Given the description of an element on the screen output the (x, y) to click on. 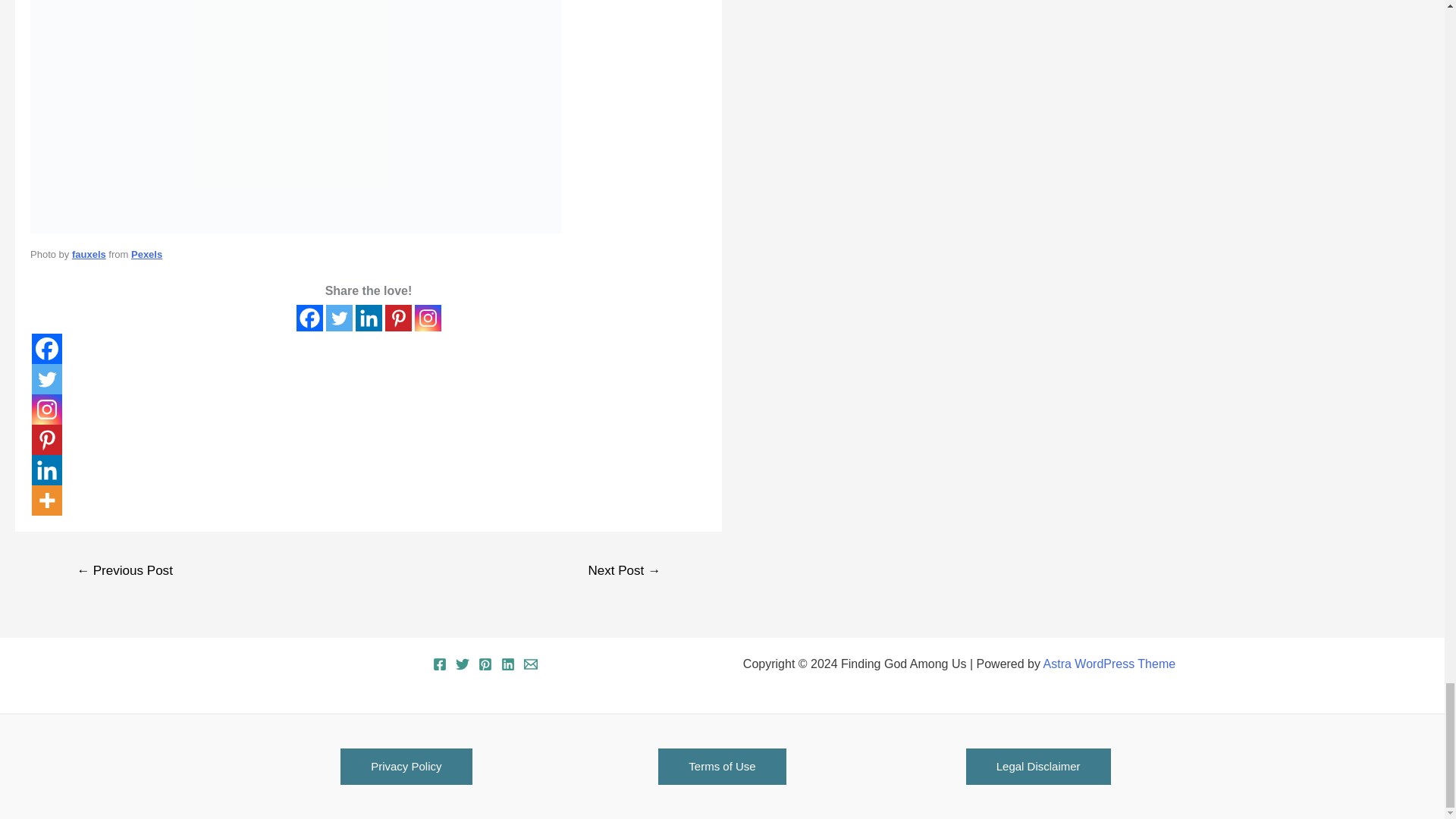
Instagram (427, 317)
Instagram (47, 409)
Linkedin (47, 470)
Pinterest (398, 317)
Facebook (47, 348)
Pexels (146, 254)
fauxels (88, 254)
Who is Jesus Christ? Why does he matter to you? (124, 572)
More (47, 500)
Twitter (339, 317)
Facebook (308, 317)
Linkedin (368, 317)
The Parable of the Talents Meaning and 5 Life Lessons (624, 572)
Twitter (47, 378)
Pinterest (47, 440)
